Given the description of an element on the screen output the (x, y) to click on. 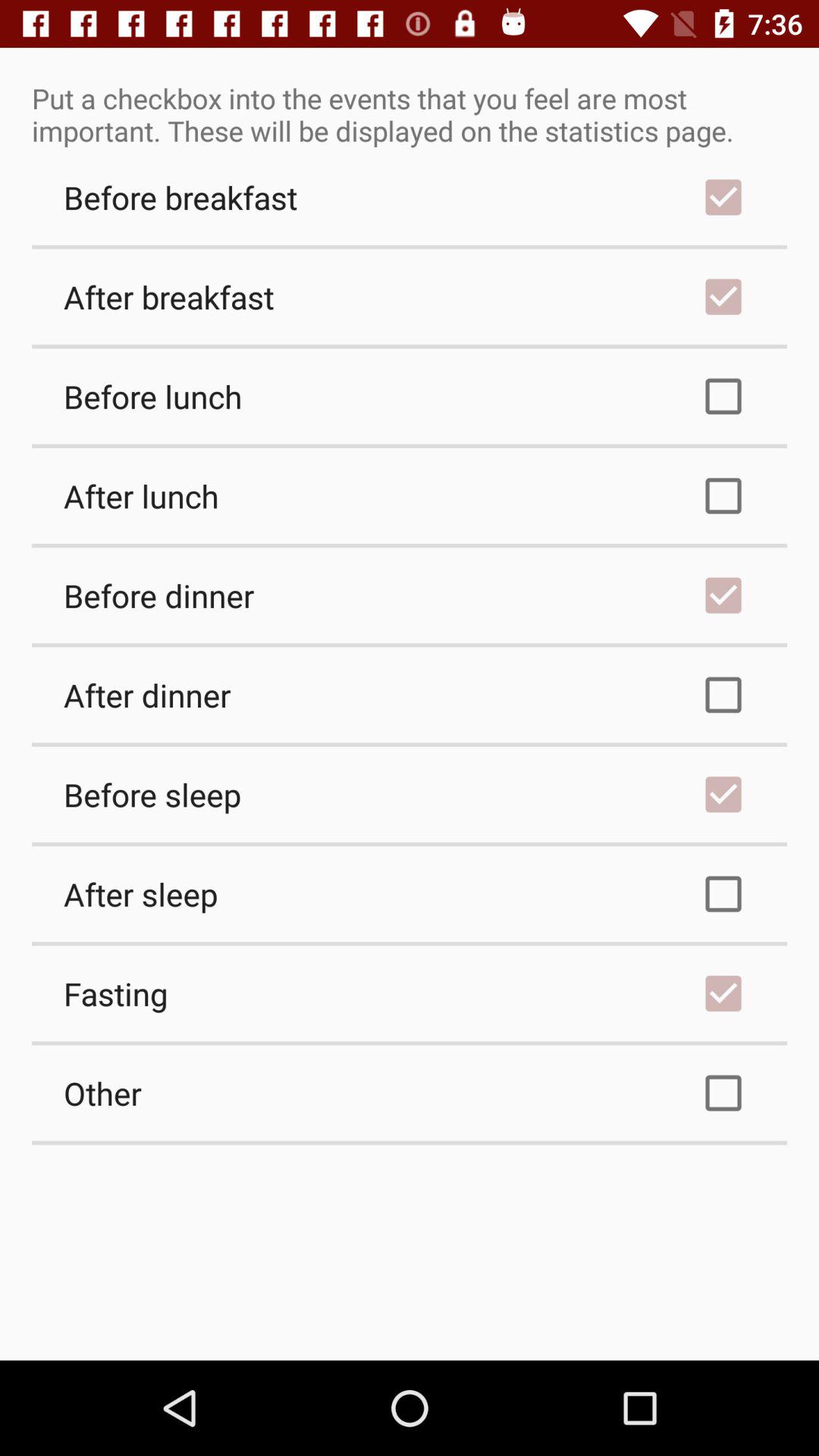
tap checkbox above after dinner checkbox (409, 595)
